Given the description of an element on the screen output the (x, y) to click on. 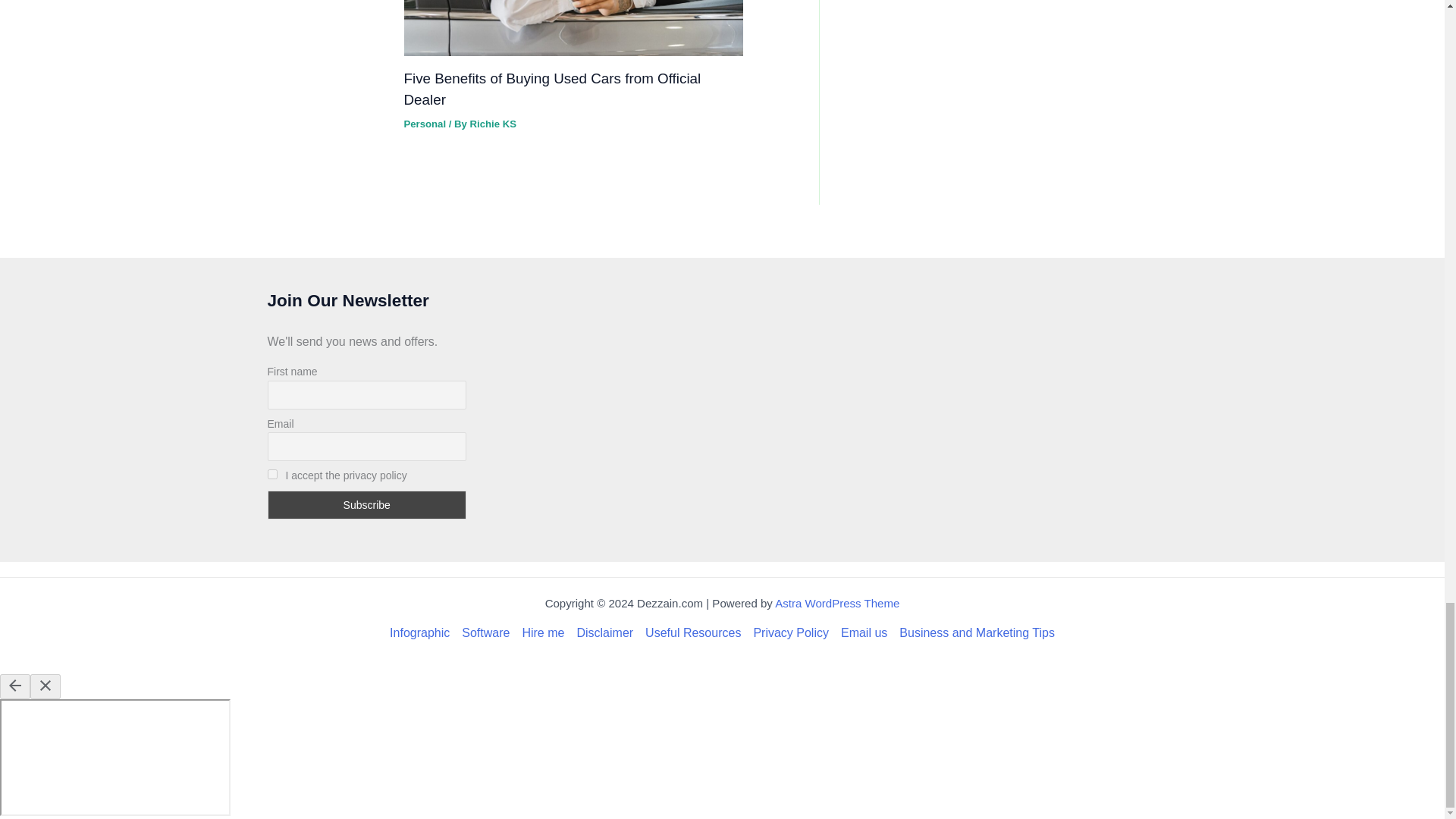
View all posts by Richie KS (493, 123)
on (271, 474)
Subscribe (365, 504)
